Given the description of an element on the screen output the (x, y) to click on. 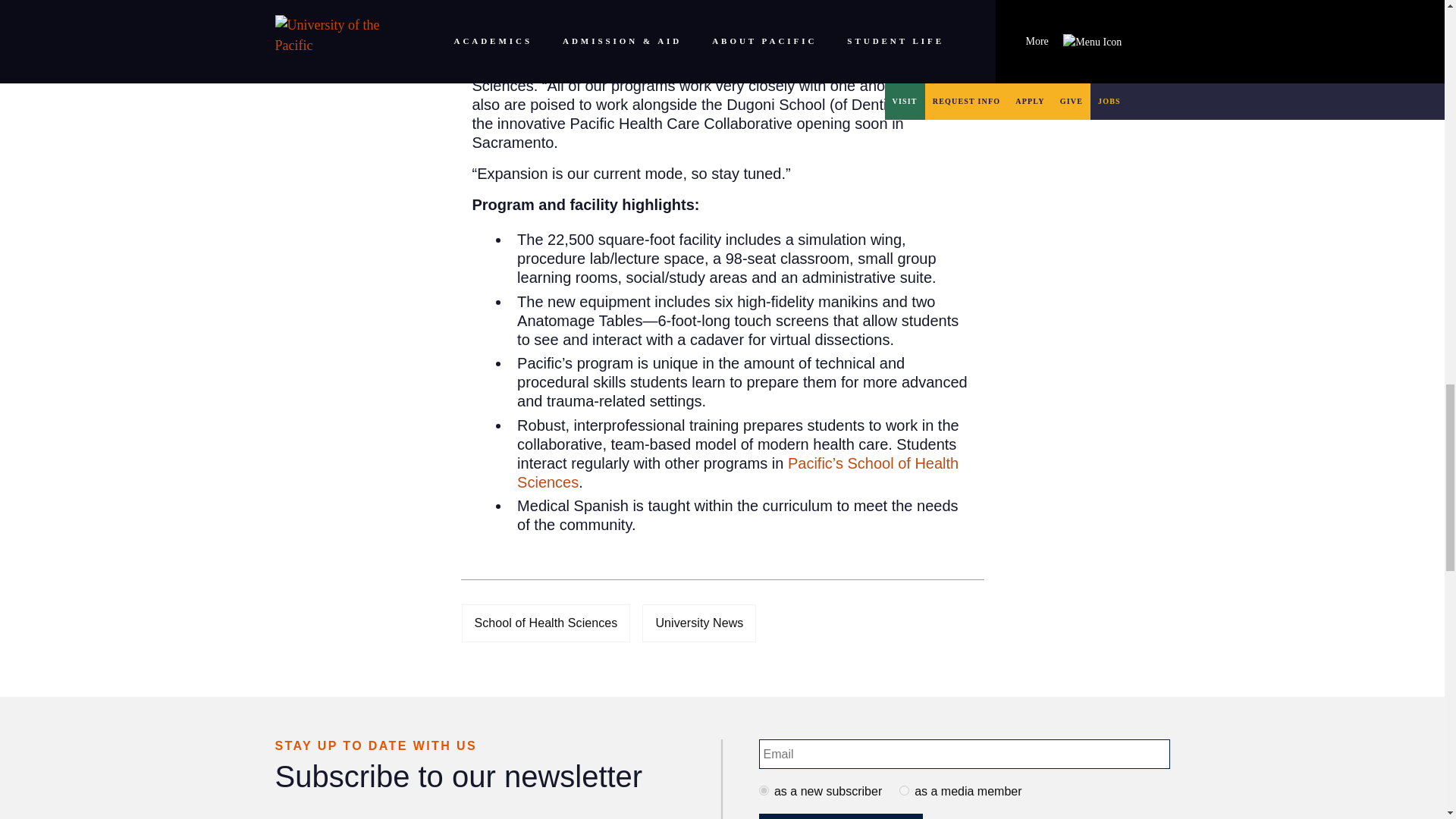
Subscriber (763, 790)
Media (903, 790)
Subscribe (840, 816)
